Given the description of an element on the screen output the (x, y) to click on. 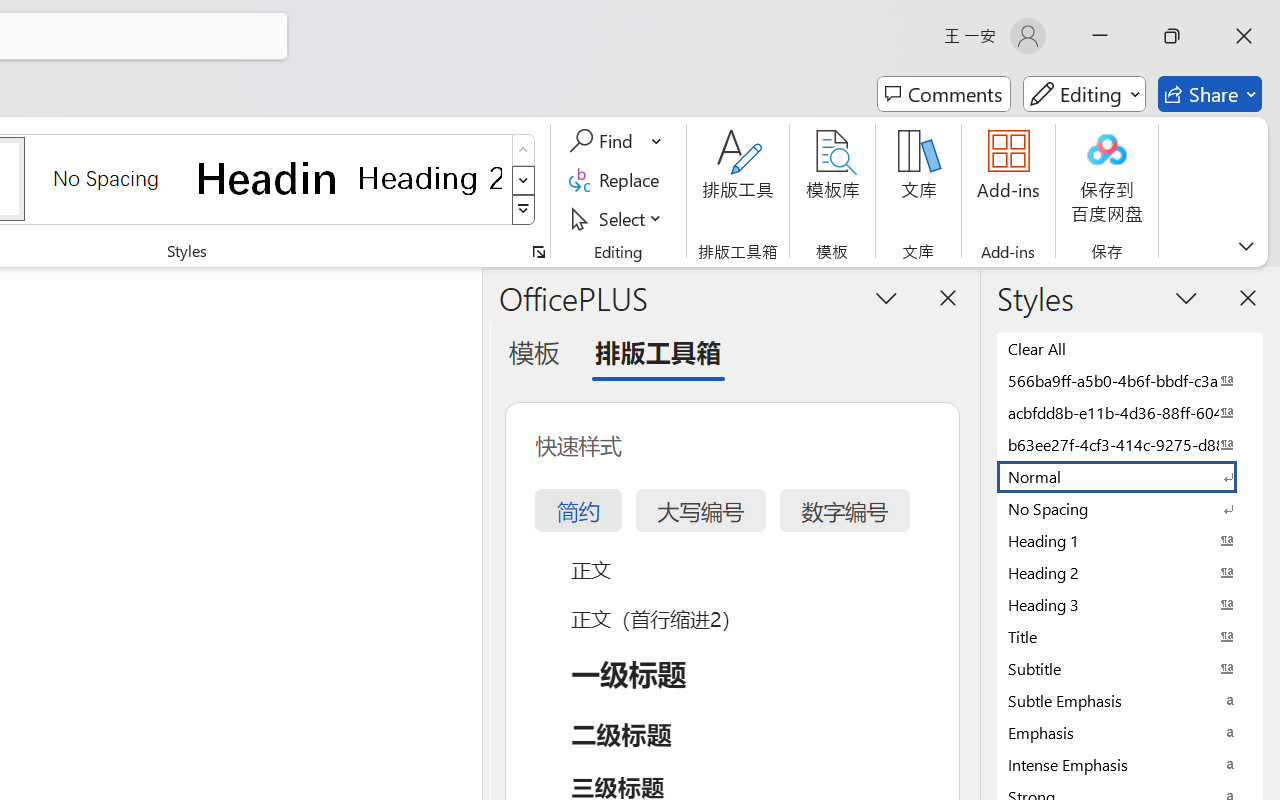
Replace... (617, 179)
566ba9ff-a5b0-4b6f-bbdf-c3ab41993fc2 (1130, 380)
Select (618, 218)
acbfdd8b-e11b-4d36-88ff-6049b138f862 (1130, 412)
No Spacing (1130, 508)
Styles... (538, 252)
Share (1210, 94)
Subtitle (1130, 668)
